Given the description of an element on the screen output the (x, y) to click on. 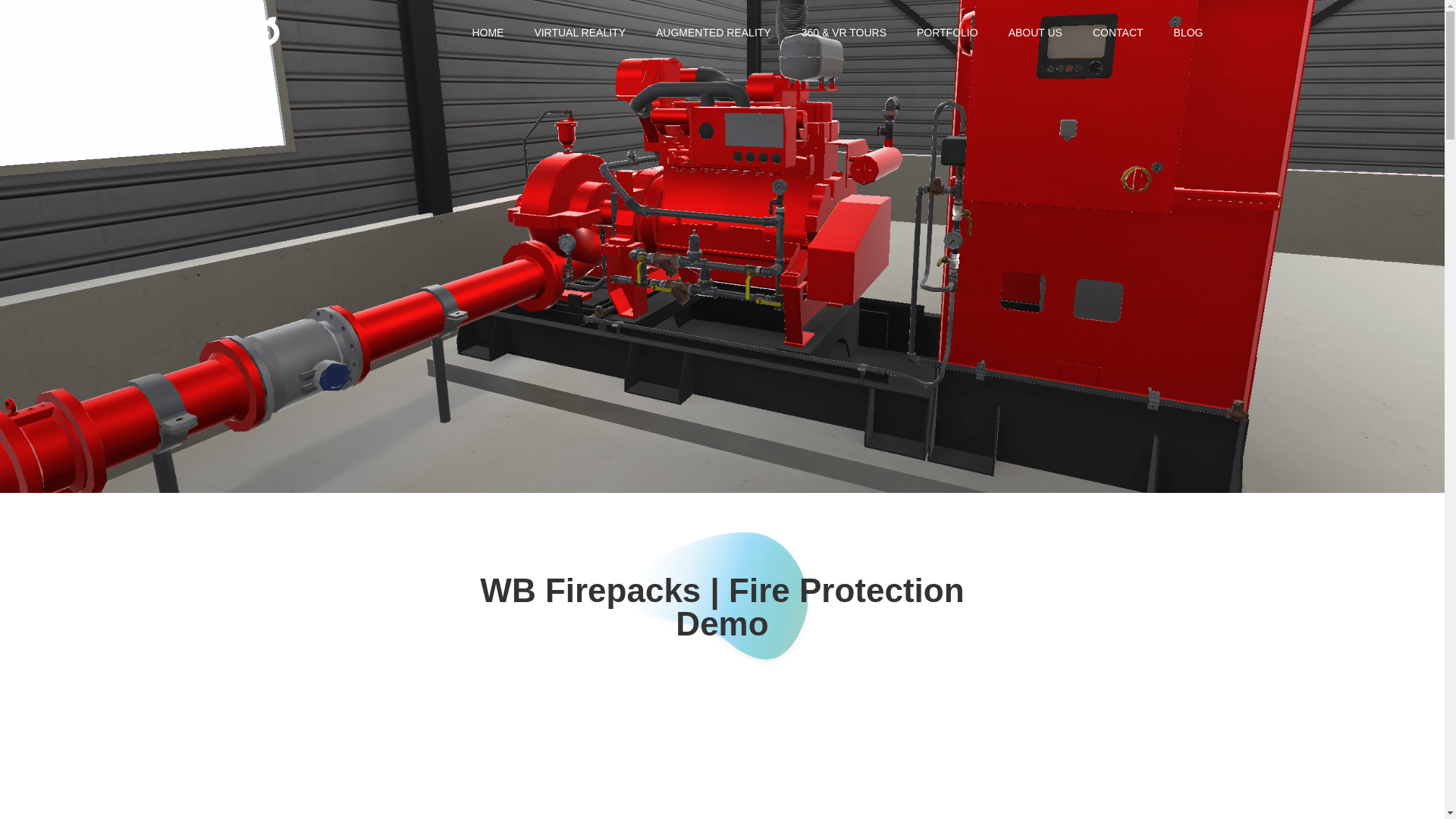
CONTACT (1117, 32)
AUGMENTED REALITY (713, 32)
VIRTUAL REALITY (579, 32)
ABOUT US (1034, 32)
HOME (487, 32)
BLOG (1188, 32)
PORTFOLIO (946, 32)
